Given the description of an element on the screen output the (x, y) to click on. 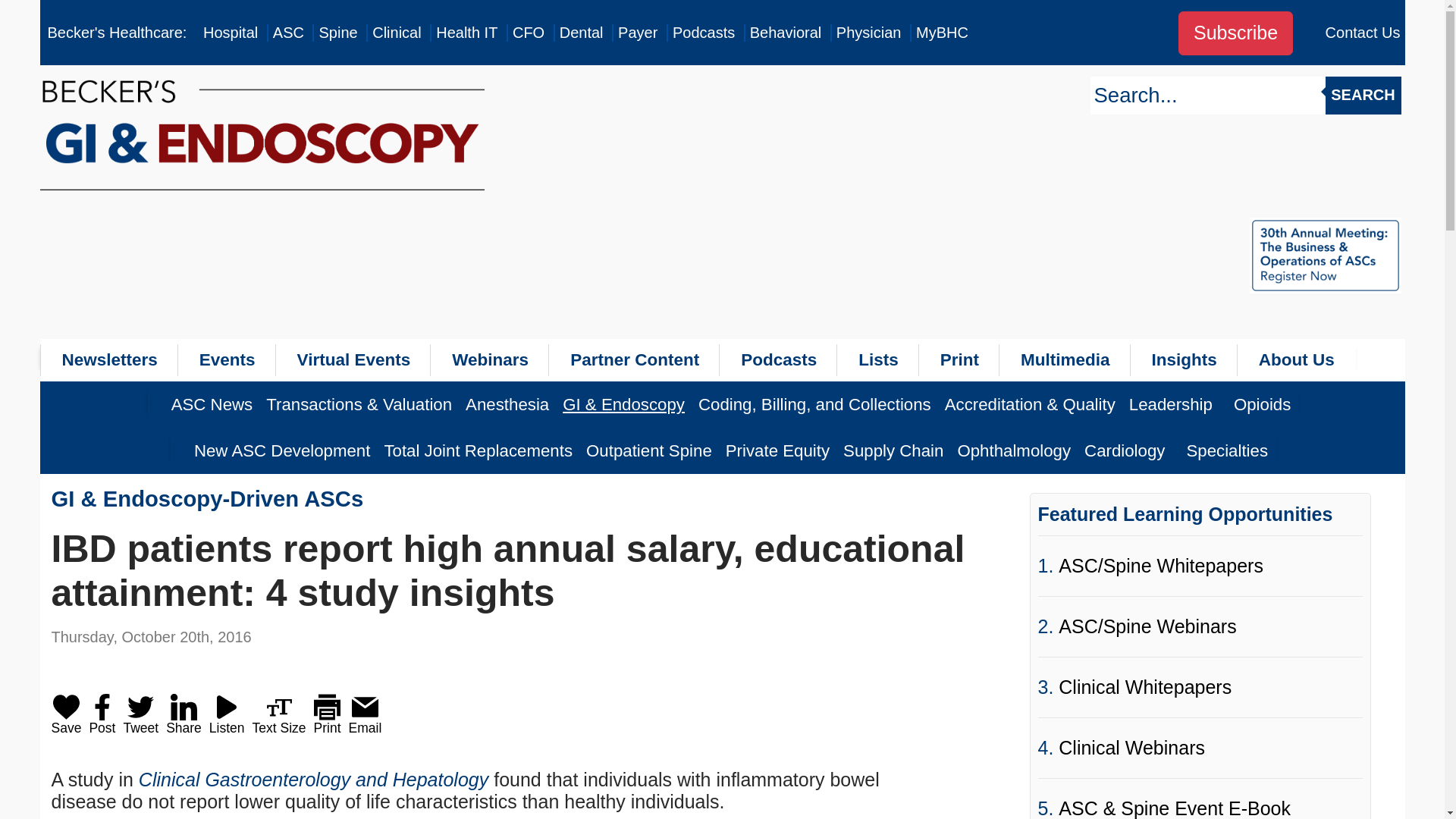
Physician (868, 32)
MyBHC (941, 32)
Clinical (396, 32)
Behavioral (785, 32)
MyBHC (941, 32)
Hospital (230, 32)
Becker's Dental Review (581, 32)
Dental (581, 32)
Becker's CFO (528, 32)
Becker's Podcasts (703, 32)
